Given the description of an element on the screen output the (x, y) to click on. 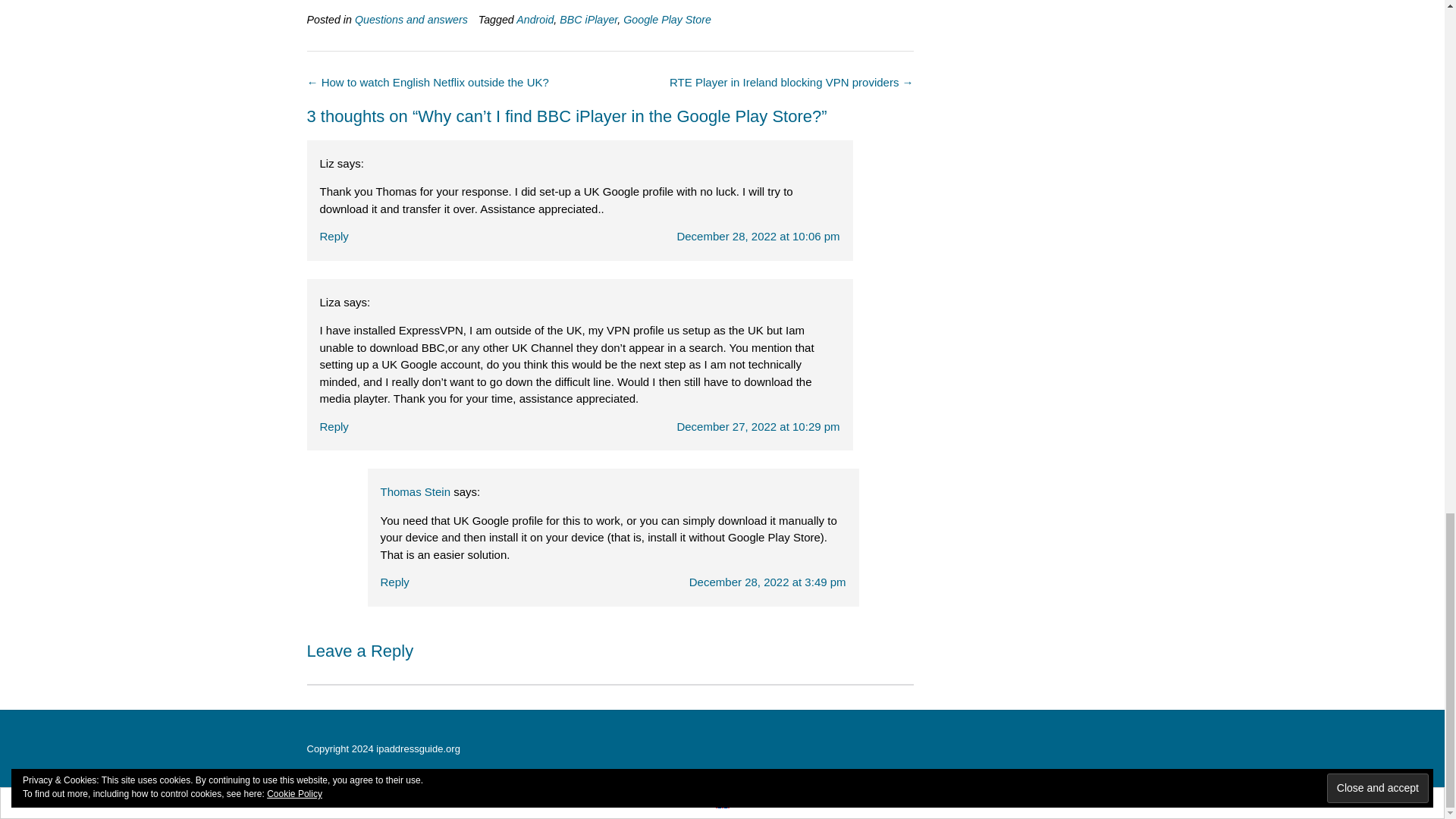
Thomas Stein (415, 491)
December 27, 2022 at 10:29 pm (758, 425)
Google Play Store (667, 19)
BBC iPlayer (588, 19)
Reply (334, 425)
Android (534, 19)
December 28, 2022 at 10:06 pm (758, 236)
Reply (394, 581)
Questions and answers (411, 19)
